Given the description of an element on the screen output the (x, y) to click on. 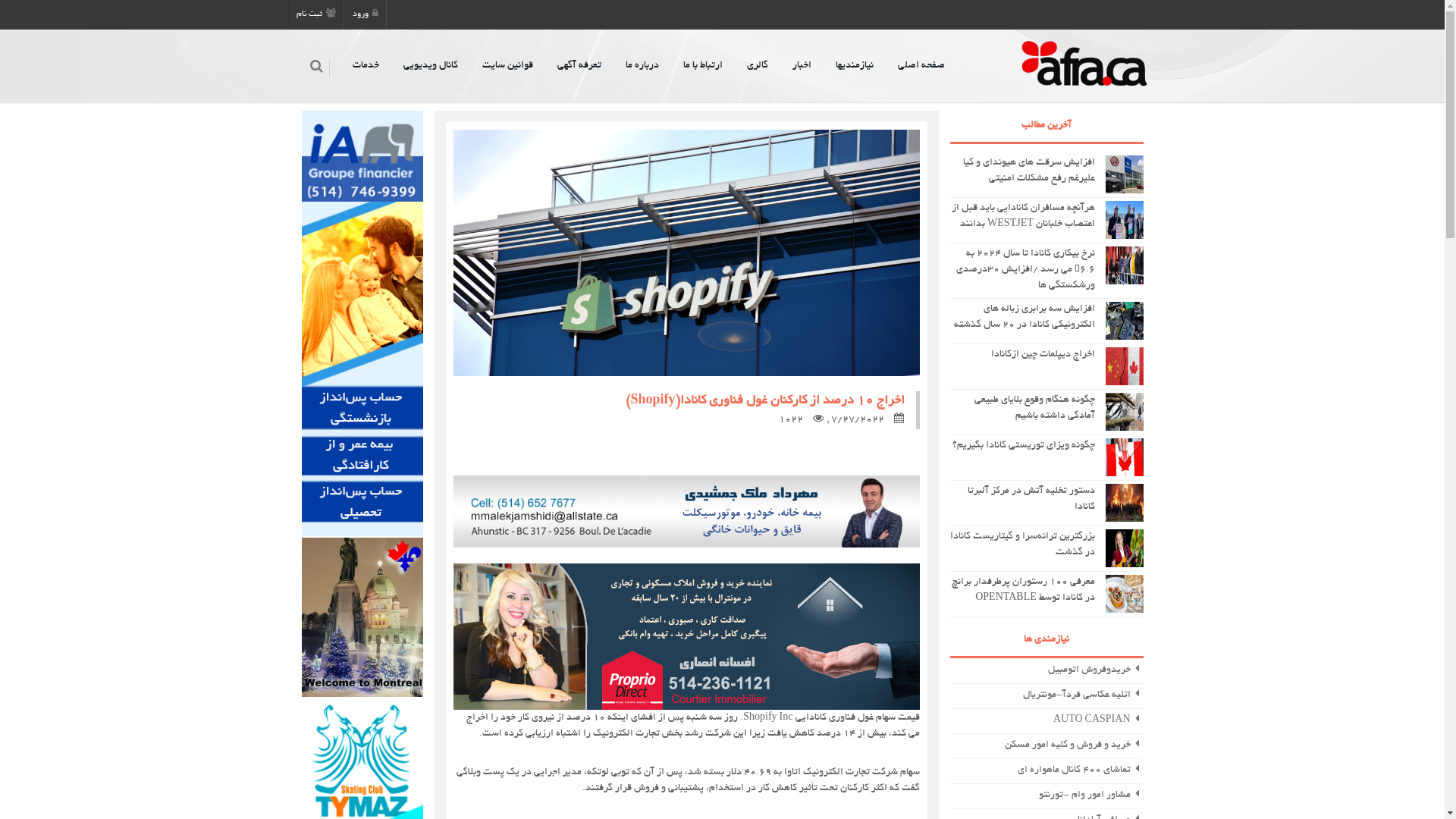
  AUTO CASPIAN Element type: text (1045, 721)
